Given the description of an element on the screen output the (x, y) to click on. 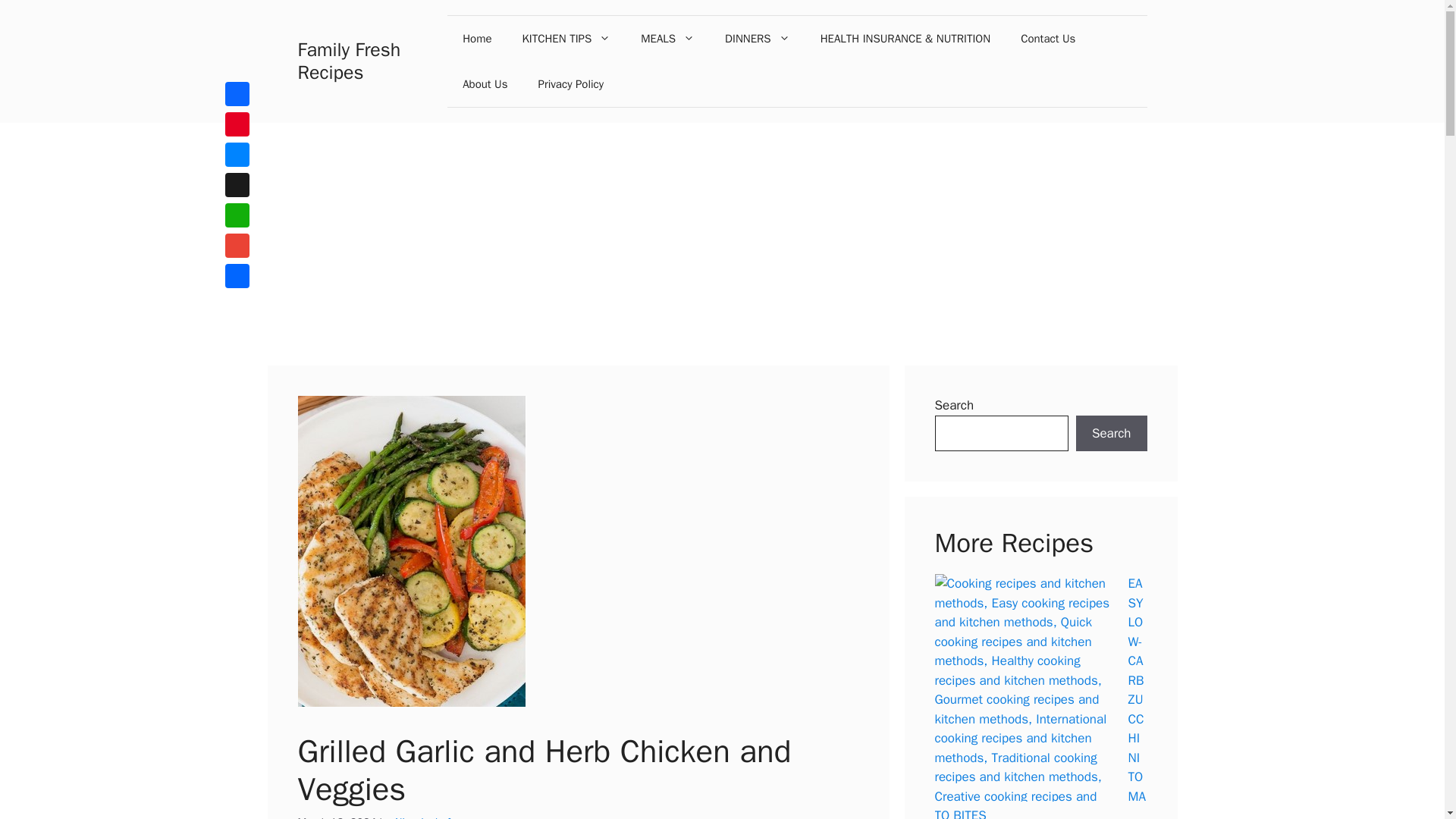
Family Fresh Recipes (348, 60)
DINNERS (757, 38)
View all posts by Alice Joshef (421, 816)
About Us (484, 84)
Alice Joshef (421, 816)
Privacy Policy (570, 84)
MEALS (668, 38)
Home (476, 38)
Contact Us (1048, 38)
KITCHEN TIPS (566, 38)
